Given the description of an element on the screen output the (x, y) to click on. 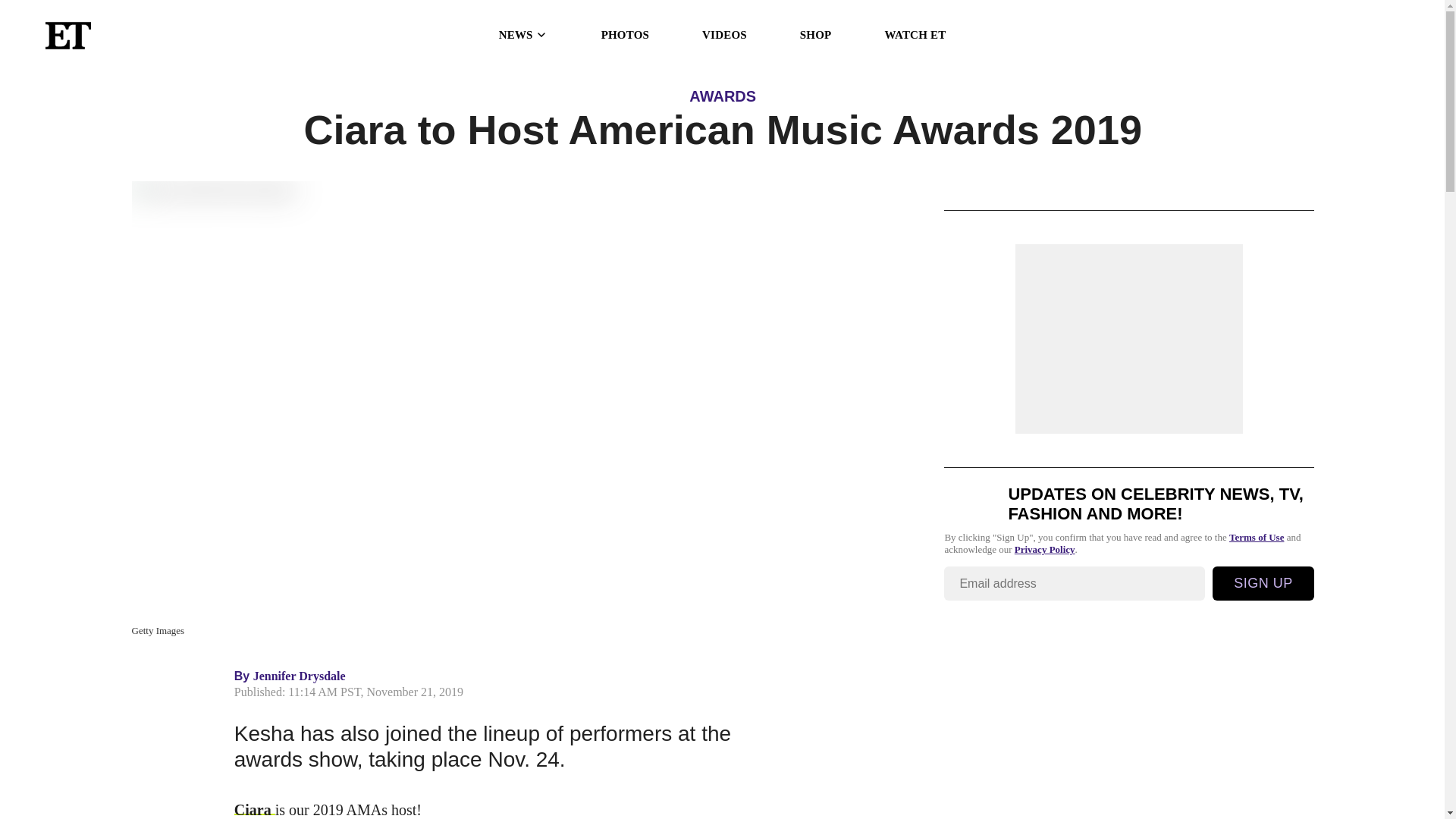
AWARDS (721, 95)
Ciara (254, 809)
PHOTOS (625, 34)
Jennifer Drysdale (299, 675)
NEWS (523, 34)
VIDEOS (723, 34)
SHOP (815, 34)
WATCH ET (913, 34)
